Given the description of an element on the screen output the (x, y) to click on. 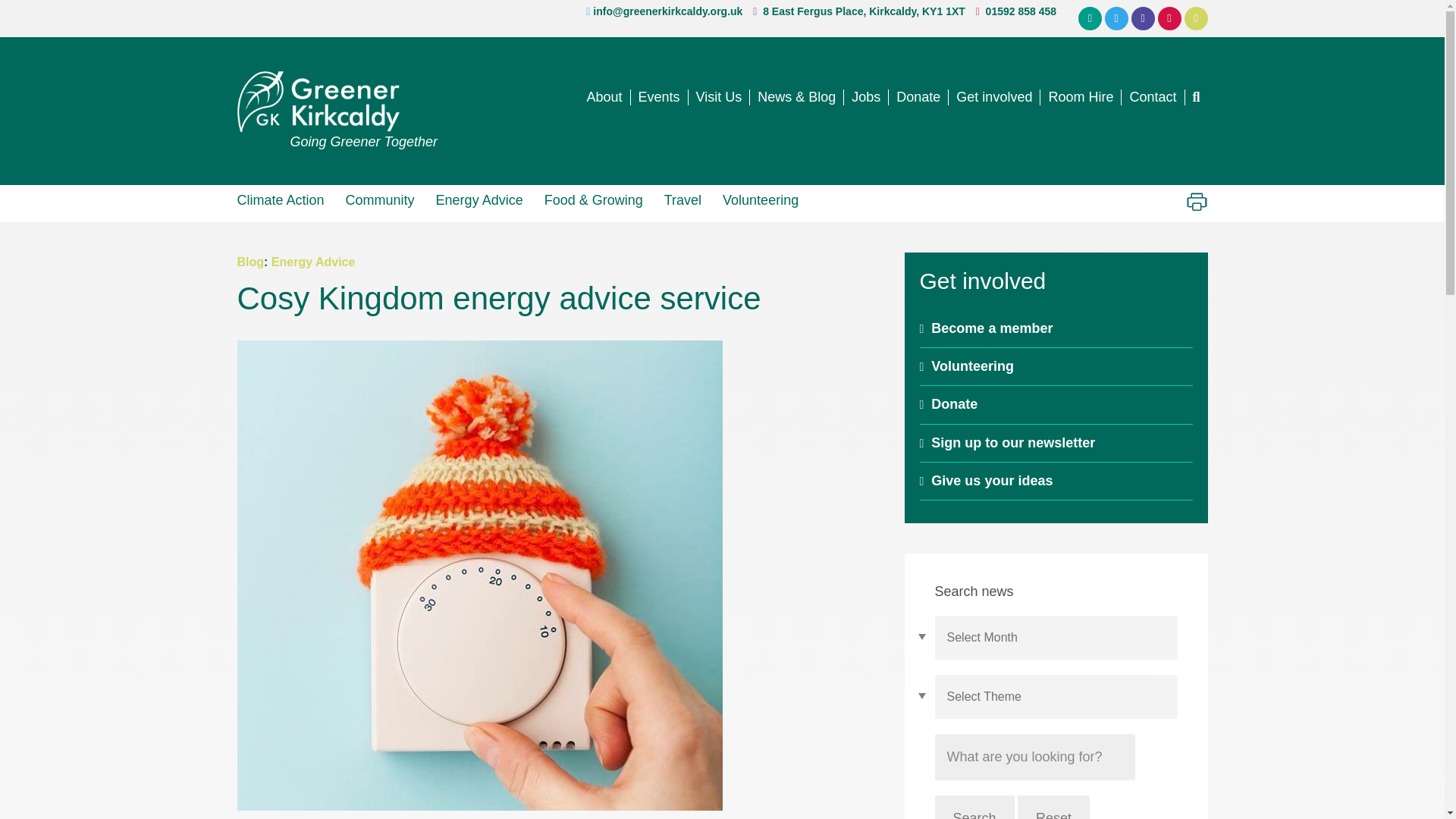
Visit Us (719, 97)
Facebook (1142, 18)
Contact (1153, 97)
Open search (1196, 97)
Twitter (1116, 18)
Travel (682, 199)
Community (379, 199)
Instagram (1168, 18)
Room Hire (1081, 97)
YouTube (1196, 18)
Donate (918, 97)
Climate Action (284, 199)
Volunteering (760, 199)
Greener Kirkcaldy (335, 101)
